Given the description of an element on the screen output the (x, y) to click on. 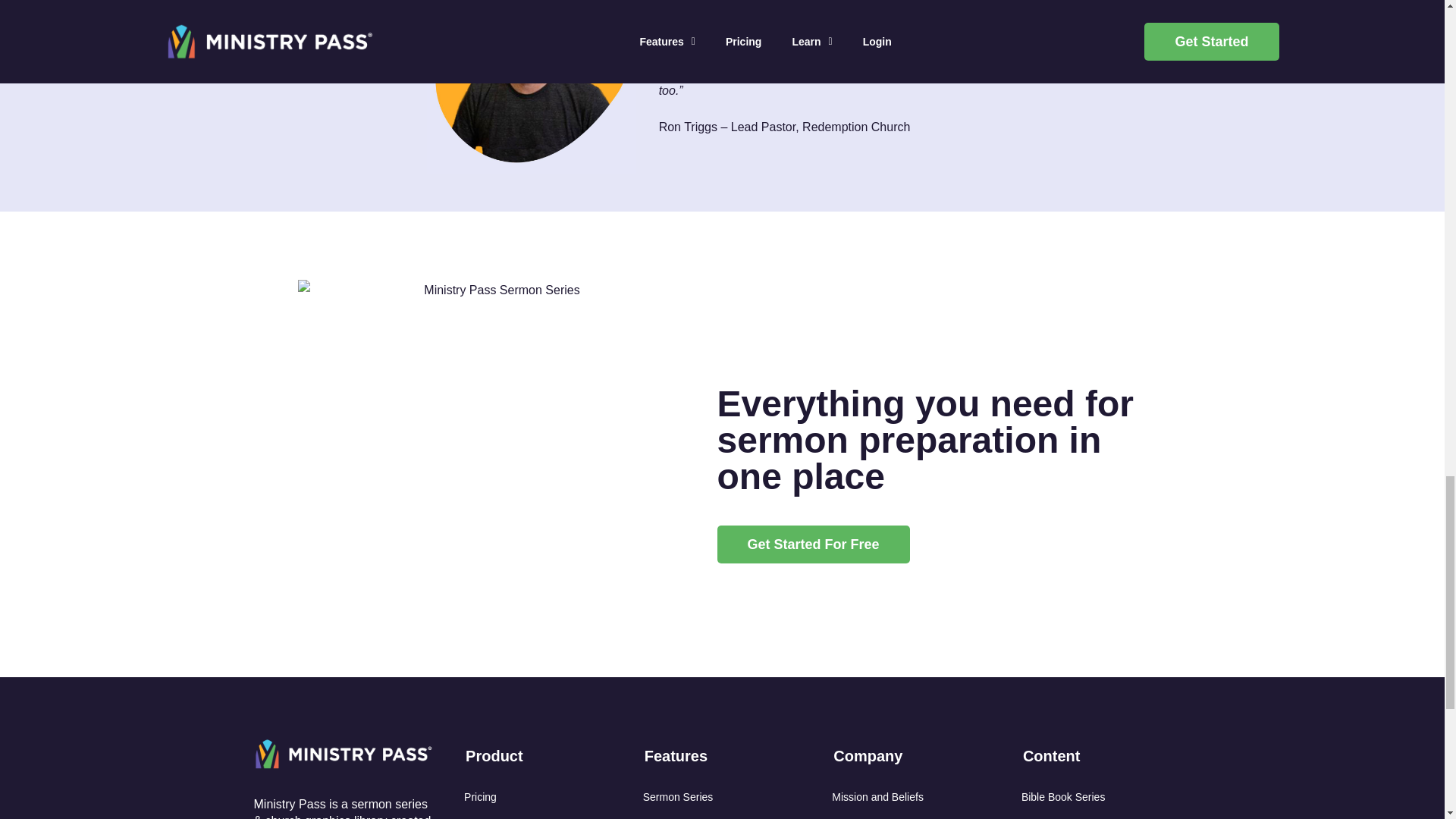
Watch Demo (549, 816)
Sermon Calendars (728, 816)
Get Started For Free (813, 544)
Sermon Series (728, 798)
Pricing (549, 798)
